Given the description of an element on the screen output the (x, y) to click on. 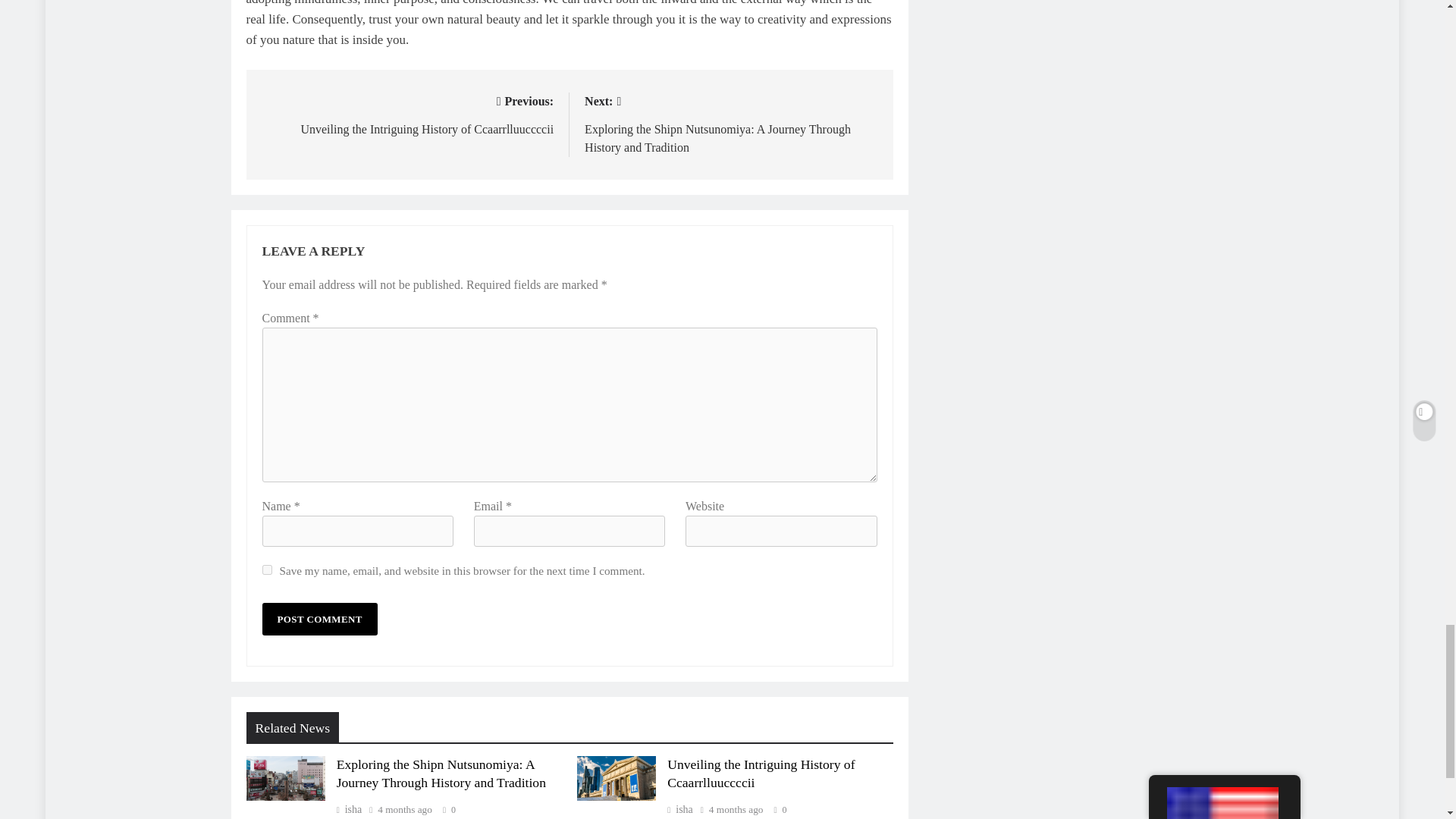
Post Comment (319, 618)
yes (267, 569)
